Given the description of an element on the screen output the (x, y) to click on. 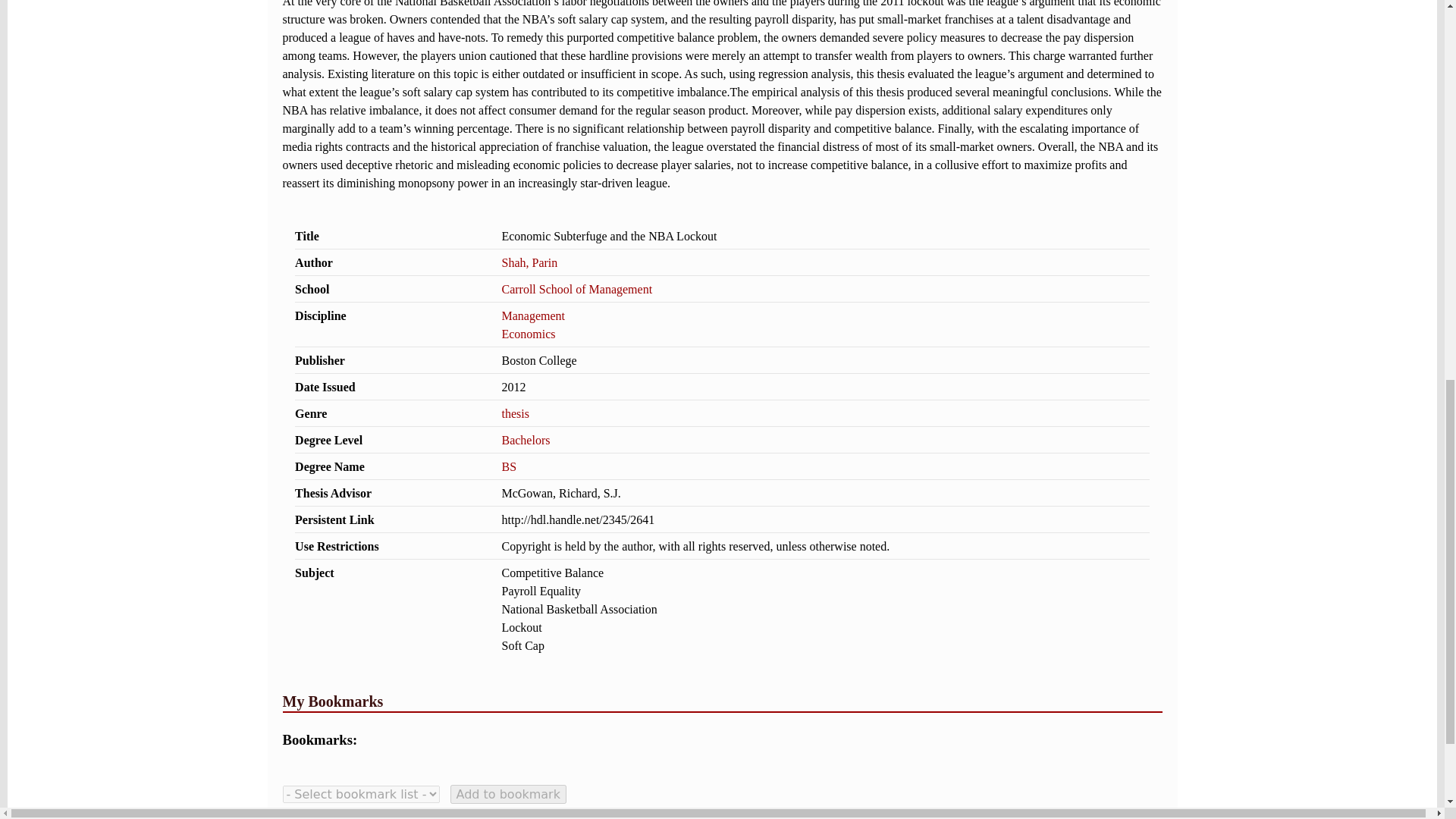
Bachelors (525, 440)
Add to bookmark (507, 793)
Management (532, 315)
Economics (527, 333)
Shah, Parin (528, 262)
BS (508, 466)
Add to bookmark (507, 793)
thesis (514, 413)
Carroll School of Management (576, 288)
